Given the description of an element on the screen output the (x, y) to click on. 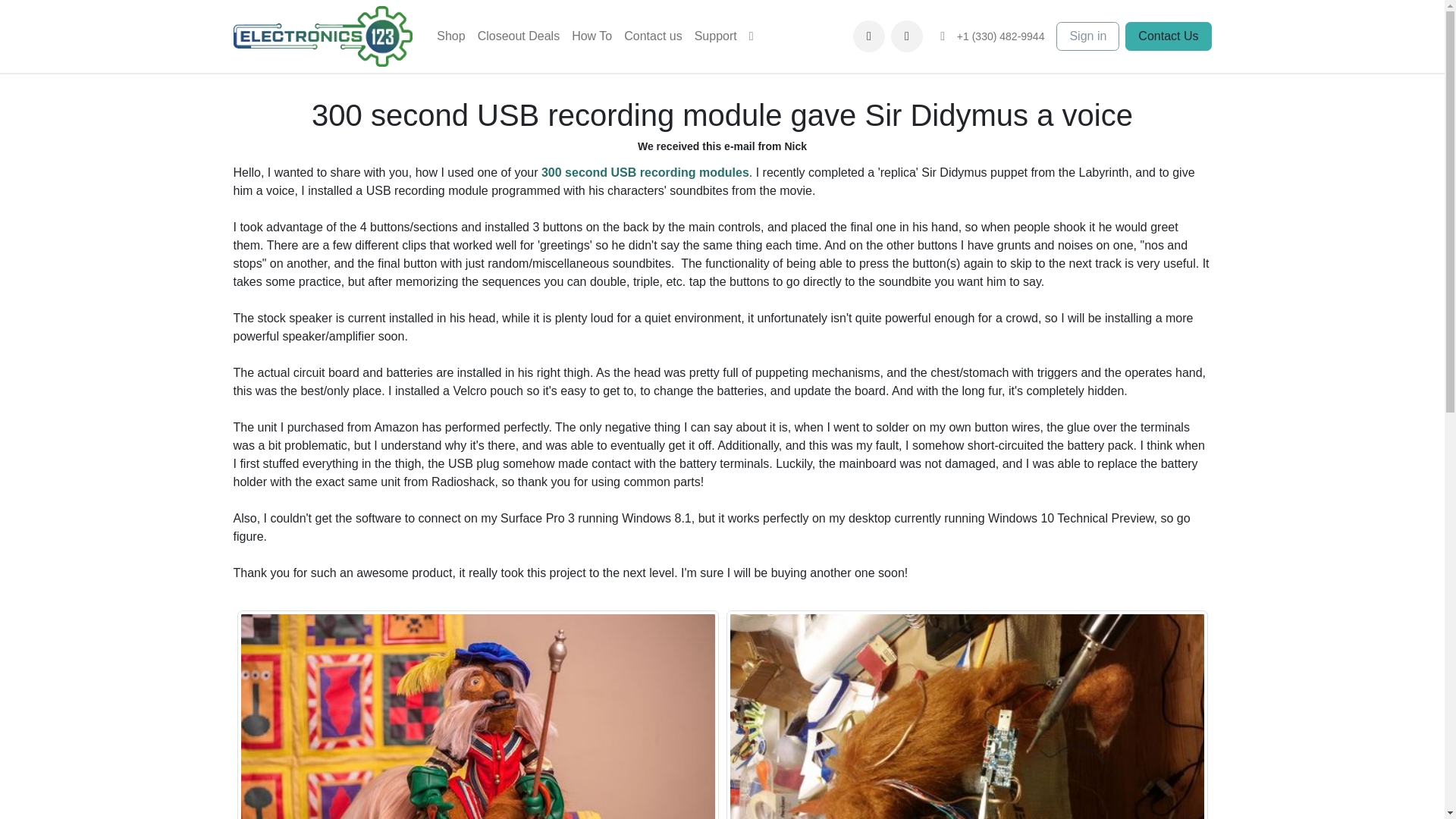
Contact Us (1168, 36)
Contact us (652, 36)
Shop (450, 36)
Sign in (1088, 36)
Search (907, 36)
300 second USB recording modules (645, 172)
How To (591, 36)
Support (715, 36)
Electronics123 (322, 35)
Closeout Deals (518, 36)
